Given the description of an element on the screen output the (x, y) to click on. 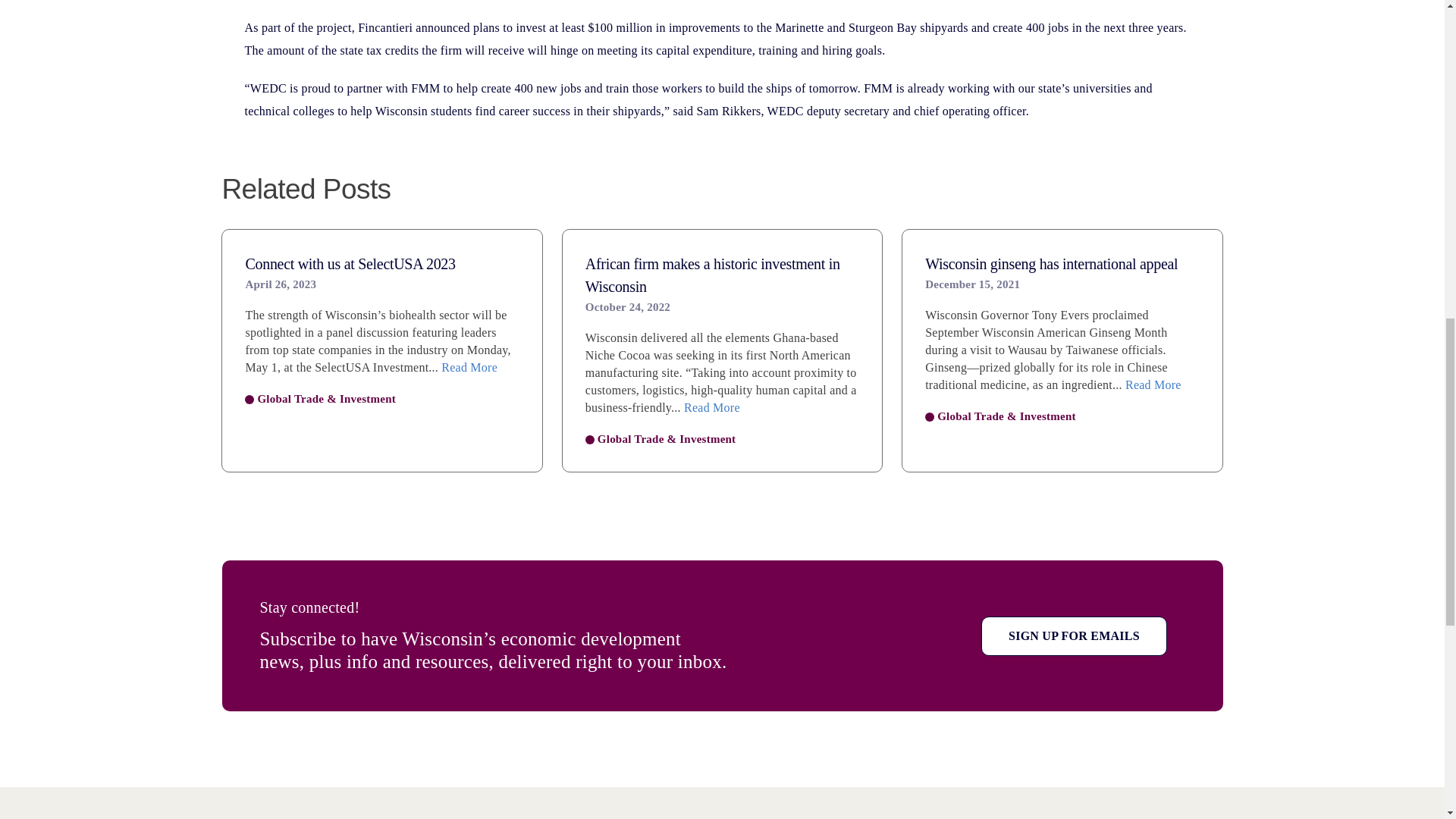
Sign Up For Emails (1074, 635)
